Given the description of an element on the screen output the (x, y) to click on. 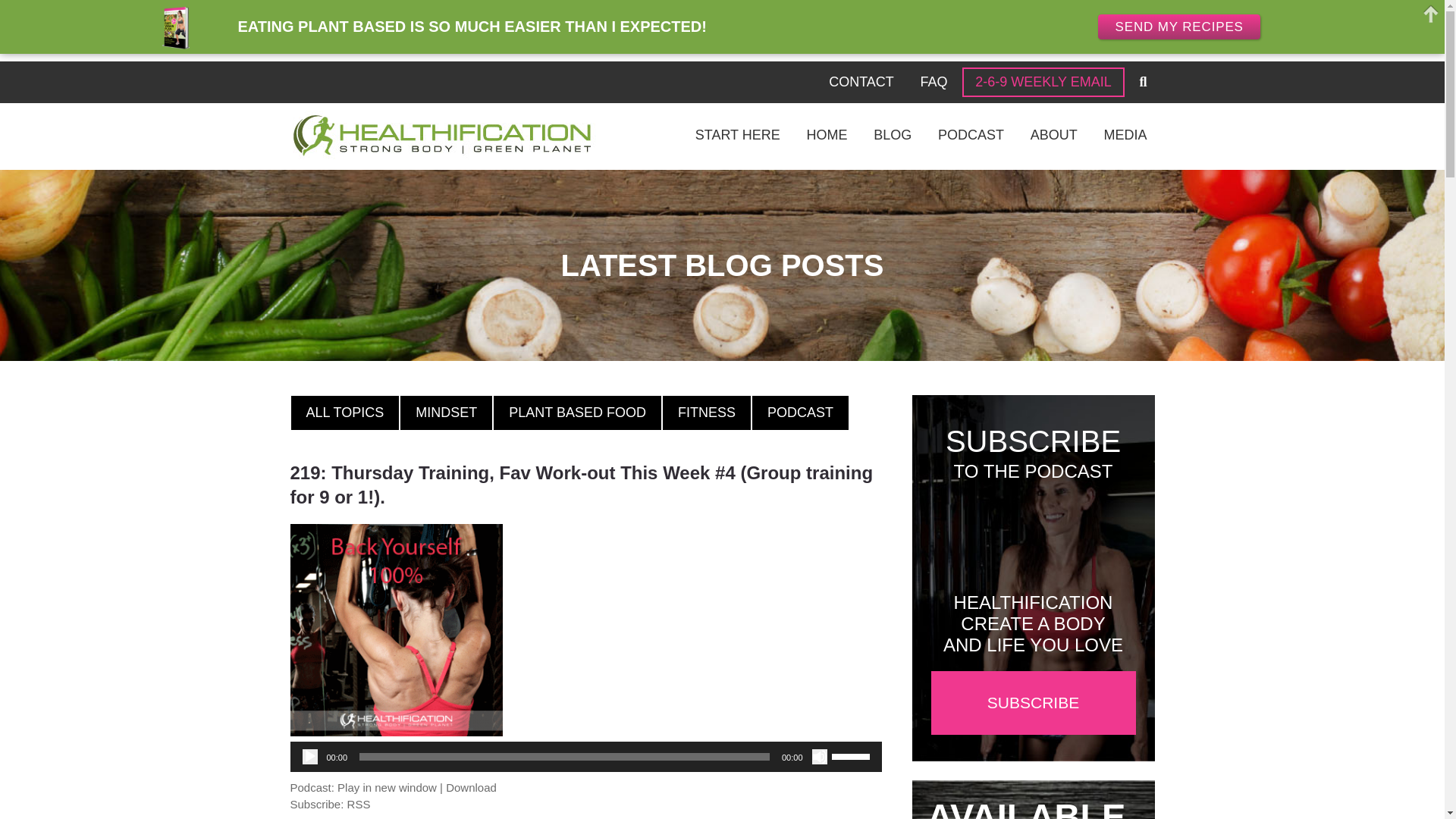
MINDSET (445, 412)
MEDIA (1124, 135)
START HERE (738, 135)
Mute (818, 756)
Play (309, 756)
FAQ (933, 82)
PODCAST (799, 412)
Download (470, 787)
2-6-9 WEEKLY EMAIL (1042, 81)
Download (470, 787)
PODCAST (970, 135)
Play in new window (386, 787)
CONTACT (860, 82)
Play in new window (386, 787)
